Given the description of an element on the screen output the (x, y) to click on. 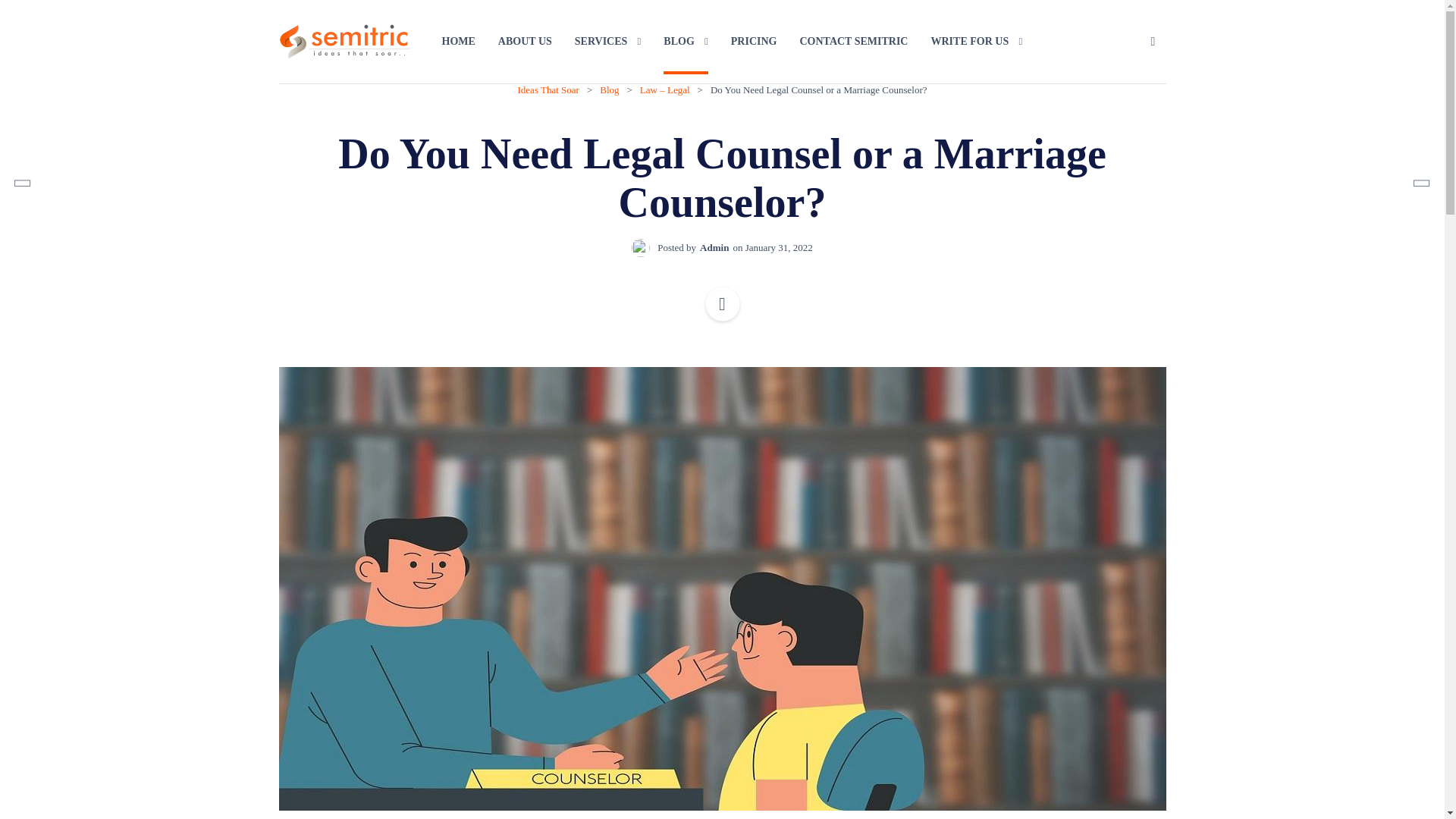
CONTACT SEMITRIC (853, 41)
Admin (714, 247)
Go to Blog. (608, 89)
Ideas That Soar (548, 89)
Posts by Admin (714, 247)
Search (1153, 41)
SERVICES (608, 41)
WRITE FOR US (976, 41)
Blog (608, 89)
Go to Ideas That Soar. (548, 89)
